Given the description of an element on the screen output the (x, y) to click on. 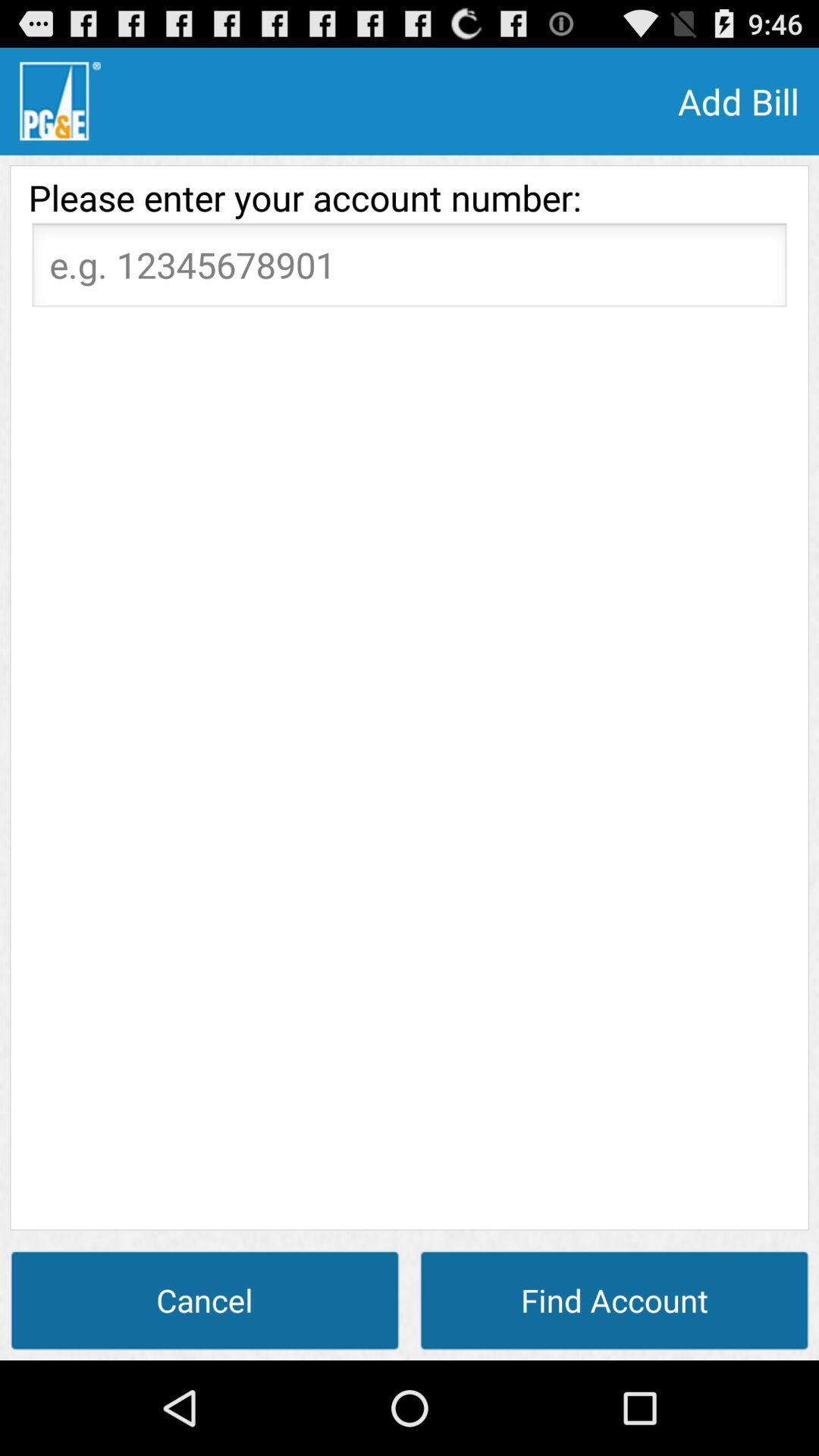
select the item at the bottom left corner (204, 1300)
